Given the description of an element on the screen output the (x, y) to click on. 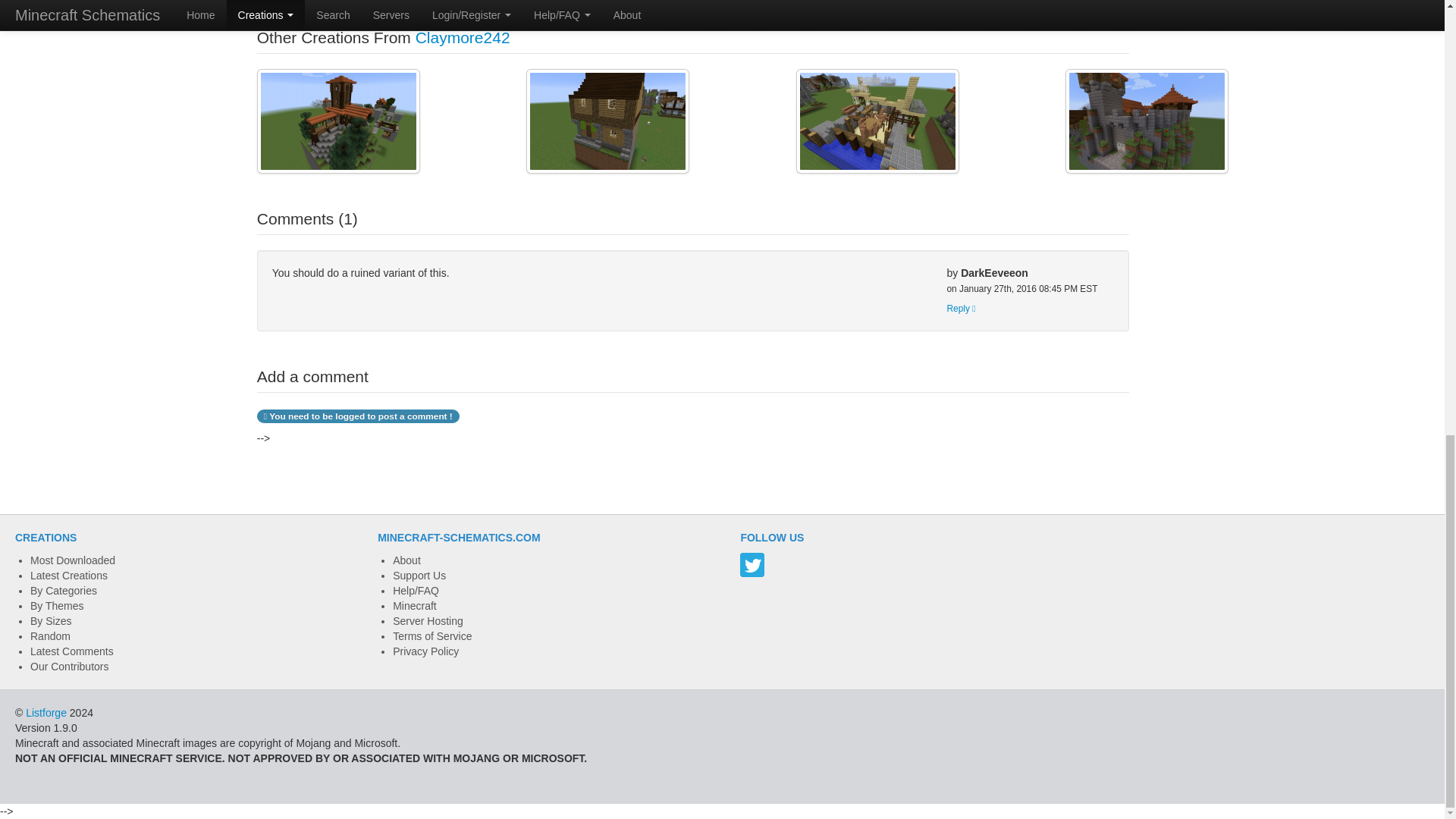
Reply (960, 308)
Shipyard (877, 120)
Twitter (751, 564)
Castle: "Schoenfels" (1146, 120)
townhouse (606, 120)
mining plant (338, 120)
